Given the description of an element on the screen output the (x, y) to click on. 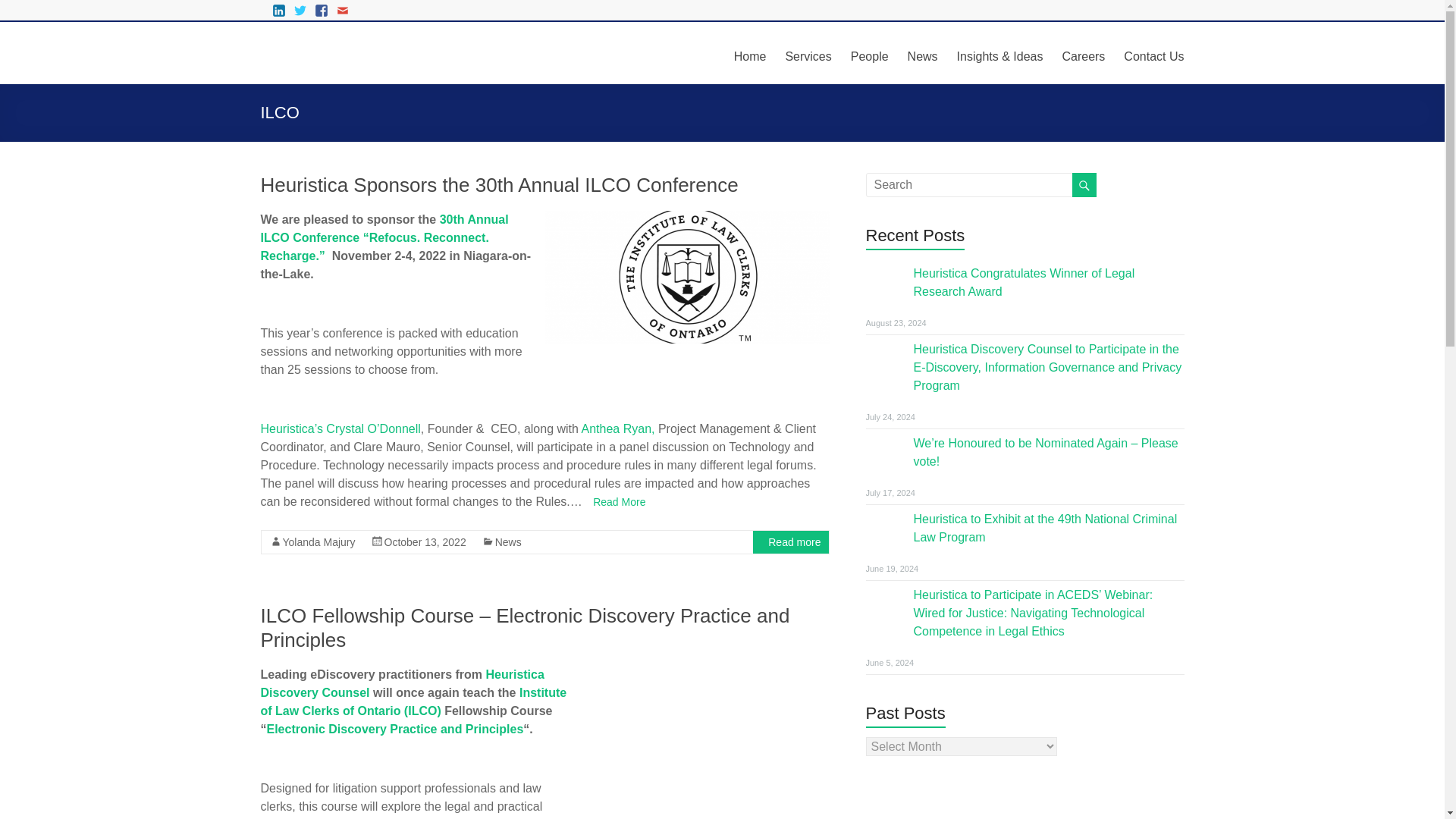
Heuristica Sponsors the 30th Annual ILCO Conference (499, 184)
Heuristica Sponsors the 30th Annual ILCO Conference (686, 338)
People (869, 54)
Heuristica Sponsors the 30th Annual ILCO Conference (686, 276)
9:36 am (424, 541)
Home (750, 54)
Anthea Ryan, (619, 428)
Heuristica Sponsors the 30th Annual ILCO Conference (499, 184)
Services (807, 54)
Careers (1083, 54)
